Given the description of an element on the screen output the (x, y) to click on. 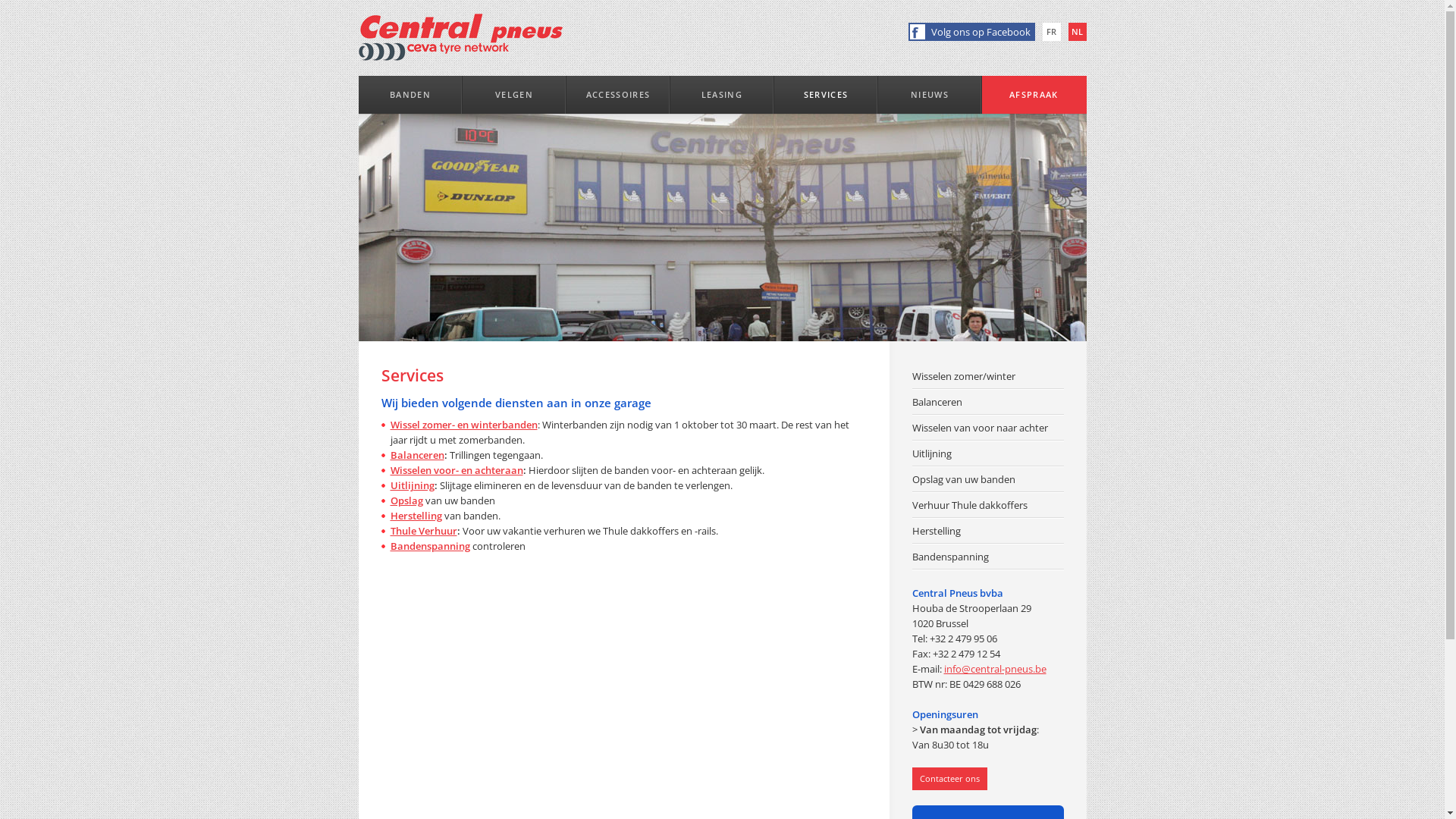
Balanceren Element type: text (416, 454)
info@central-pneus.be Element type: text (994, 668)
AFSPRAAK Element type: text (1033, 94)
Uitlijning Element type: text (987, 453)
ACCESSOIRES Element type: text (617, 94)
BANDEN Element type: text (409, 94)
Wisselen voor- en achteraan Element type: text (455, 469)
Volg ons op Facebook Element type: text (971, 31)
Bandenspanning Element type: text (987, 556)
Uitlijning Element type: text (411, 485)
SERVICES Element type: text (825, 94)
Opslag van uw banden Element type: text (987, 479)
FR Element type: text (1050, 31)
Wisselen zomer/winter Element type: text (987, 376)
Verhuur Thule dakkoffers Element type: text (987, 504)
LEASING Element type: text (722, 94)
Thule Verhuur Element type: text (422, 530)
Opslag Element type: text (405, 500)
Herstelling Element type: text (987, 530)
NL Element type: text (1076, 31)
Wisselen van voor naar achter Element type: text (987, 427)
Wissel zomer- en winterbanden Element type: text (462, 424)
Herstelling Element type: text (415, 515)
NIEUWS Element type: text (930, 94)
Contacteer ons Element type: text (948, 778)
Bandenspanning Element type: text (429, 545)
VELGEN Element type: text (514, 94)
Balanceren Element type: text (987, 401)
